Given the description of an element on the screen output the (x, y) to click on. 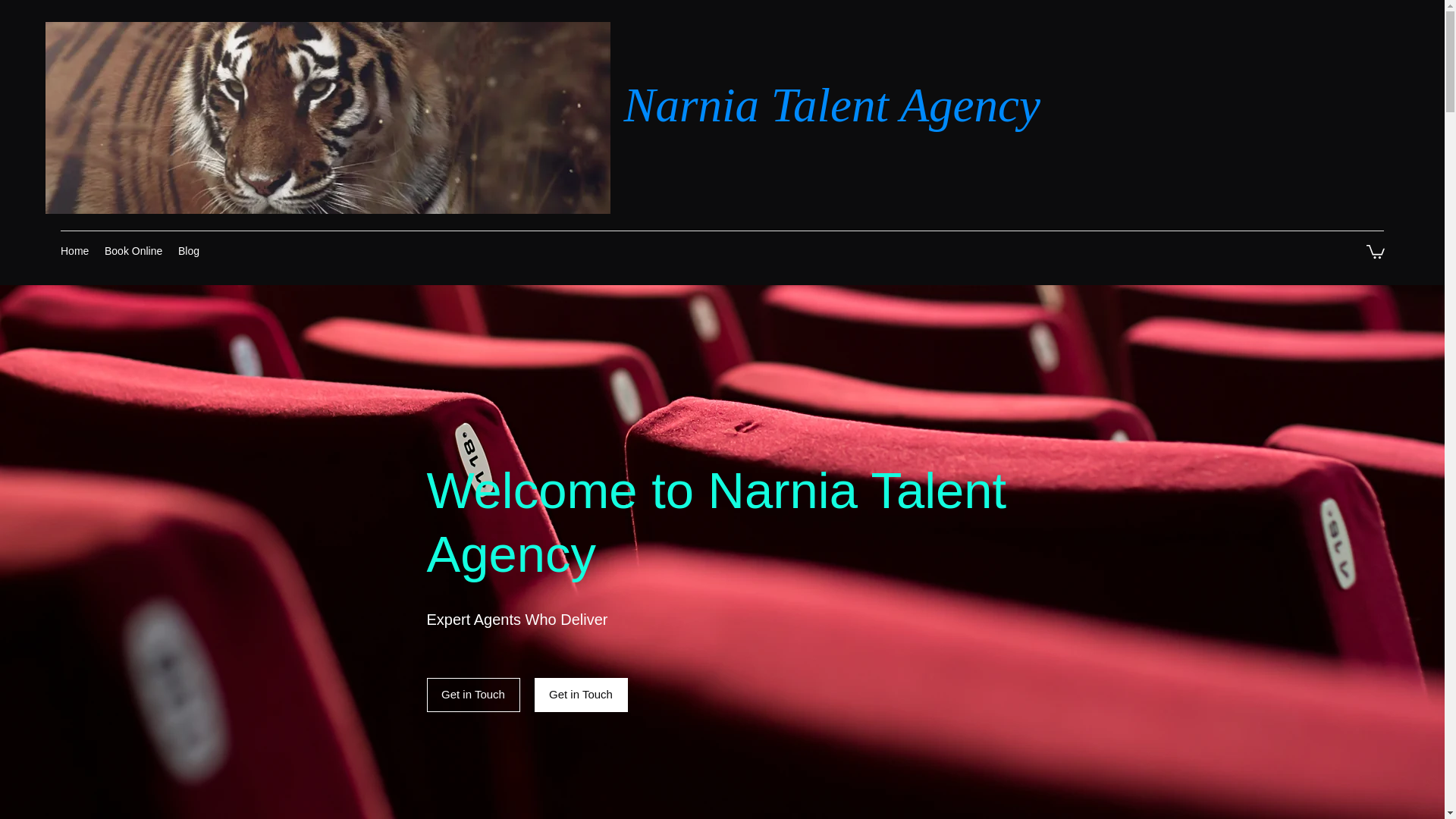
Book Online (133, 250)
Narnia Talent Agency (832, 104)
Home (74, 250)
Blog (188, 250)
